Given the description of an element on the screen output the (x, y) to click on. 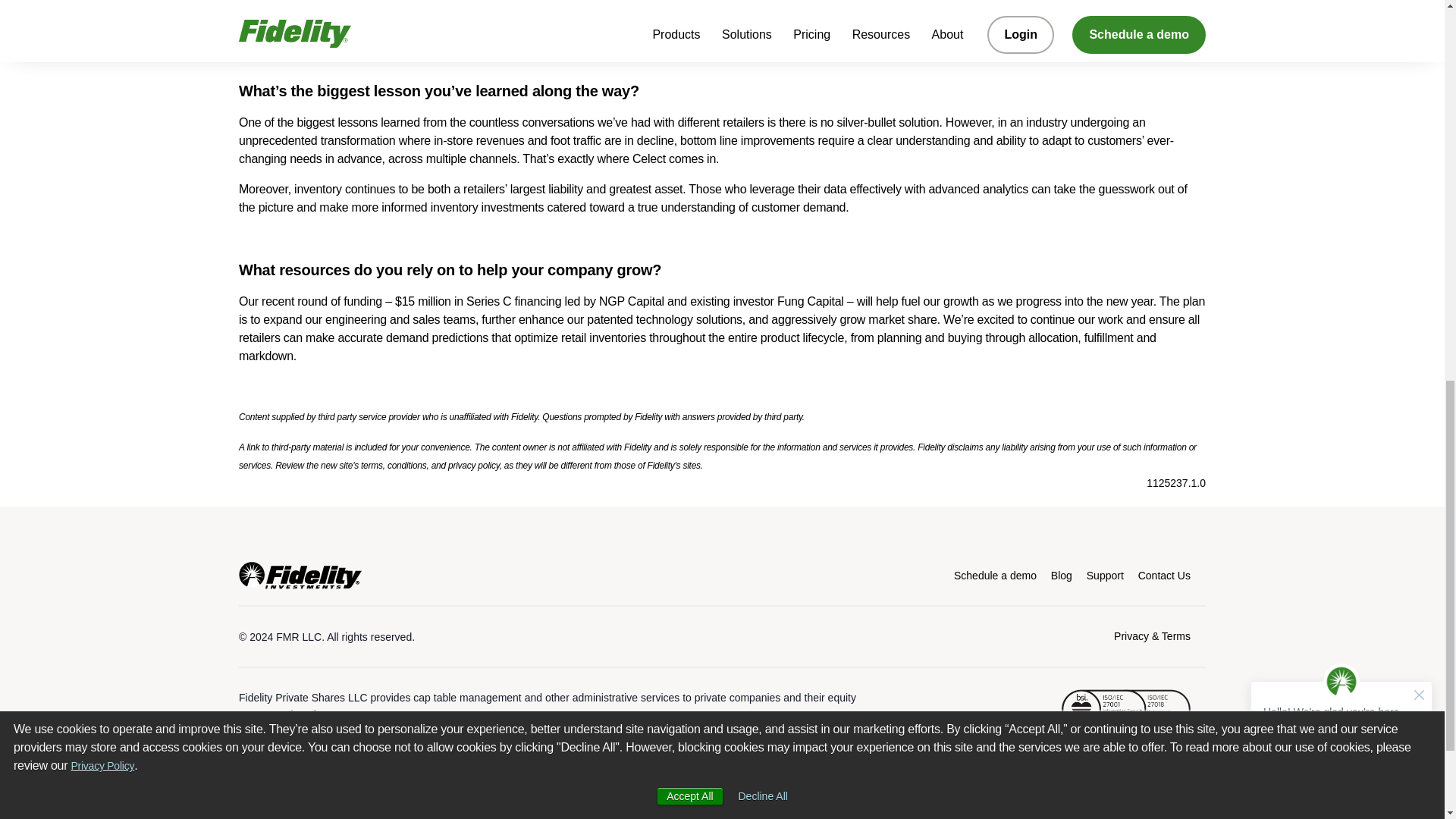
bsi-certification (1126, 708)
Blog (1061, 575)
Schedule a demo (994, 575)
Fidelity-footer-logo (300, 574)
